Given the description of an element on the screen output the (x, y) to click on. 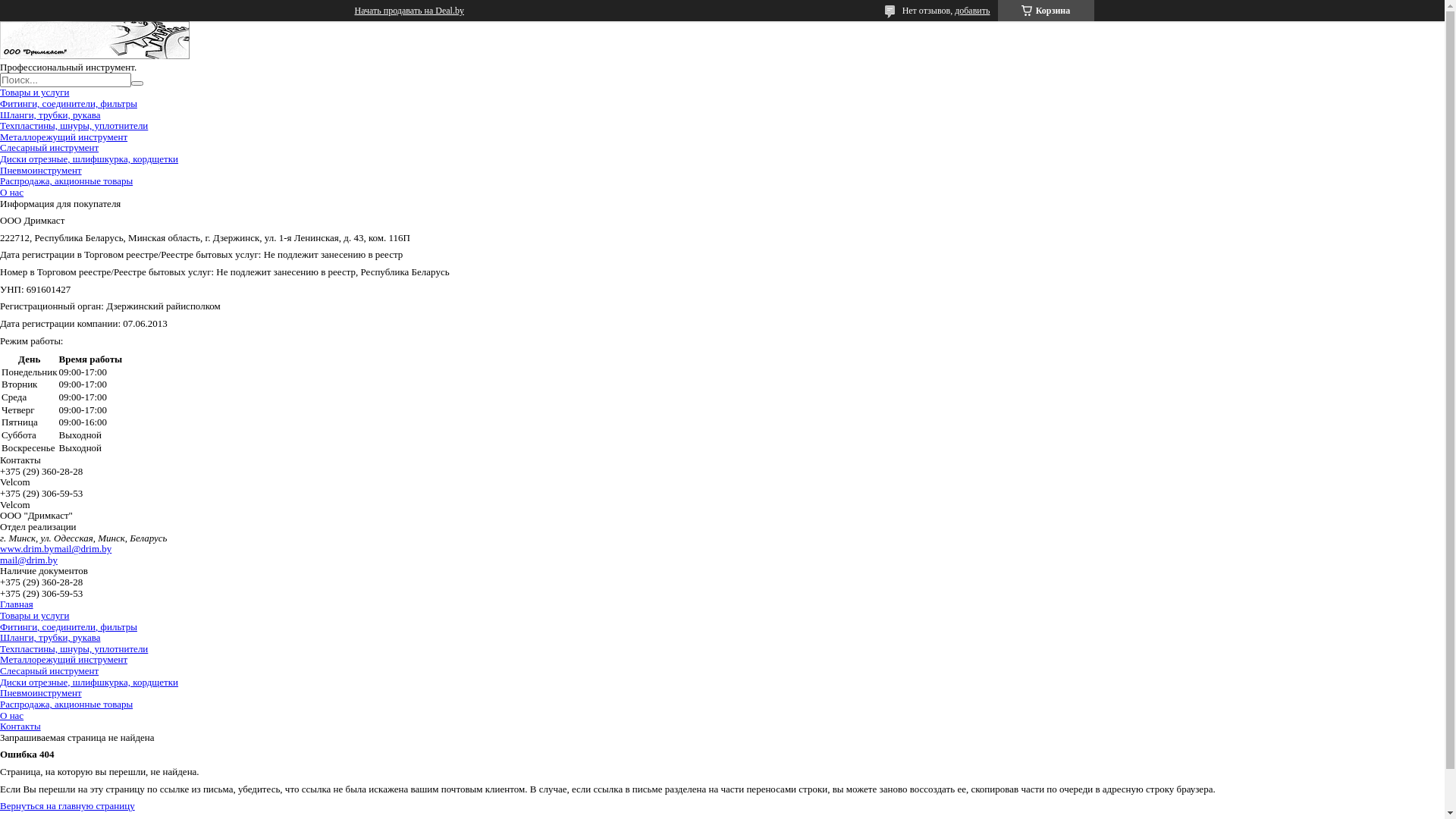
mail@drim.by Element type: text (82, 548)
www.drim.by Element type: text (26, 548)
mail@drim.by Element type: text (28, 559)
